Given the description of an element on the screen output the (x, y) to click on. 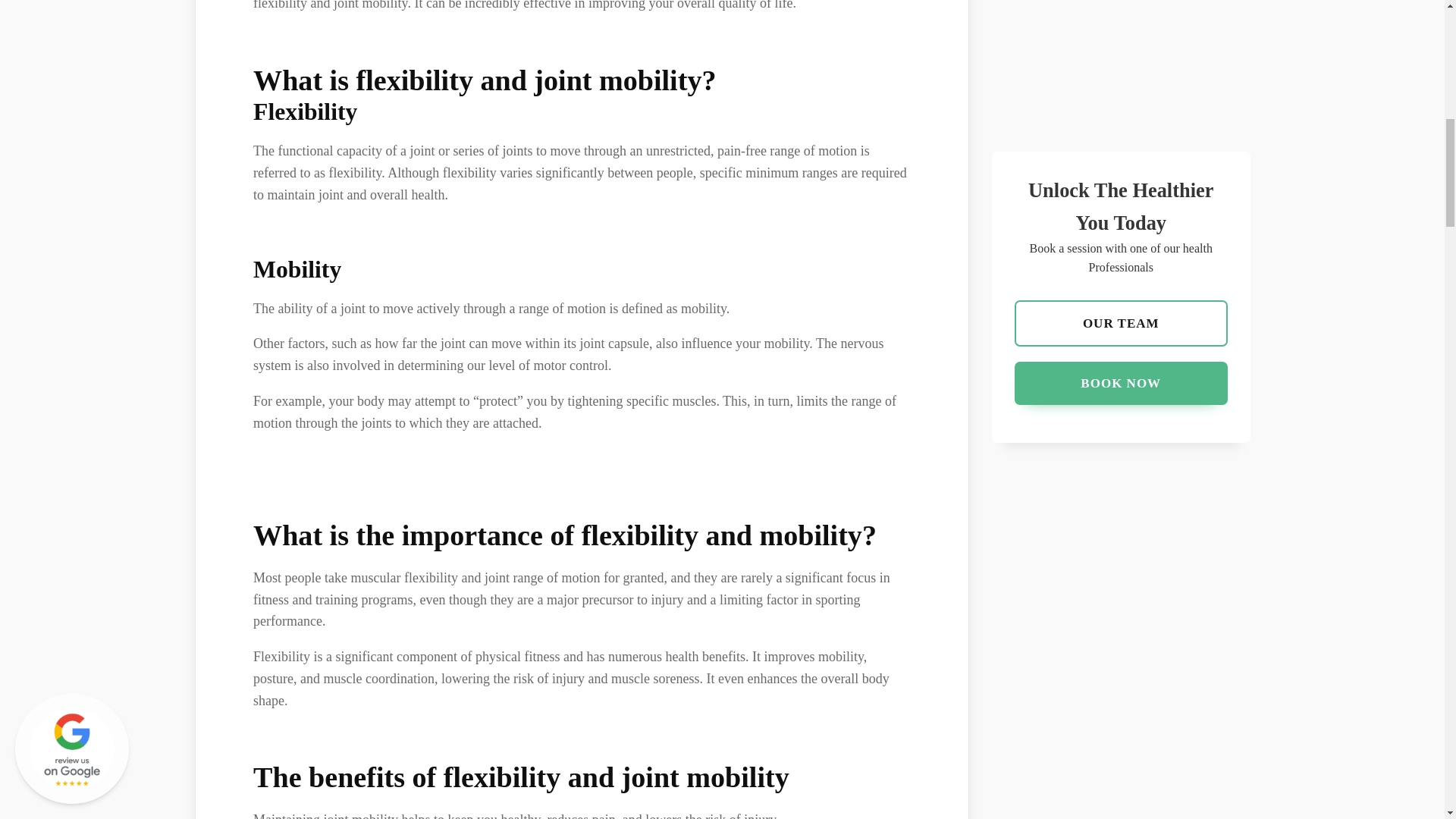
BOOK NOW (1120, 50)
OUR TEAM (1120, 6)
